Given the description of an element on the screen output the (x, y) to click on. 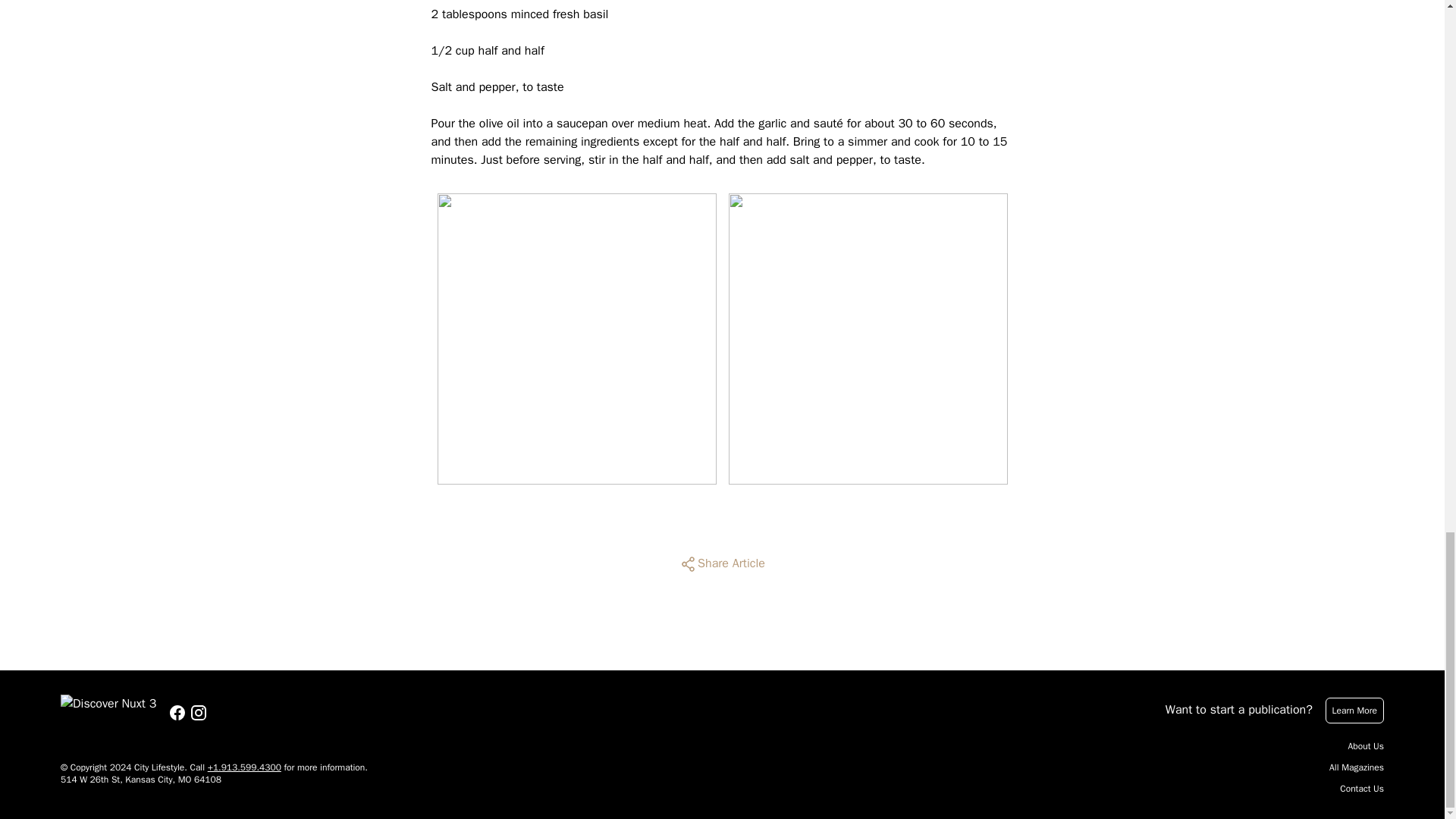
All Magazines (1356, 767)
Learn More (1354, 710)
Share Article (722, 563)
Contact Us (1361, 788)
About Us (1366, 746)
